Given the description of an element on the screen output the (x, y) to click on. 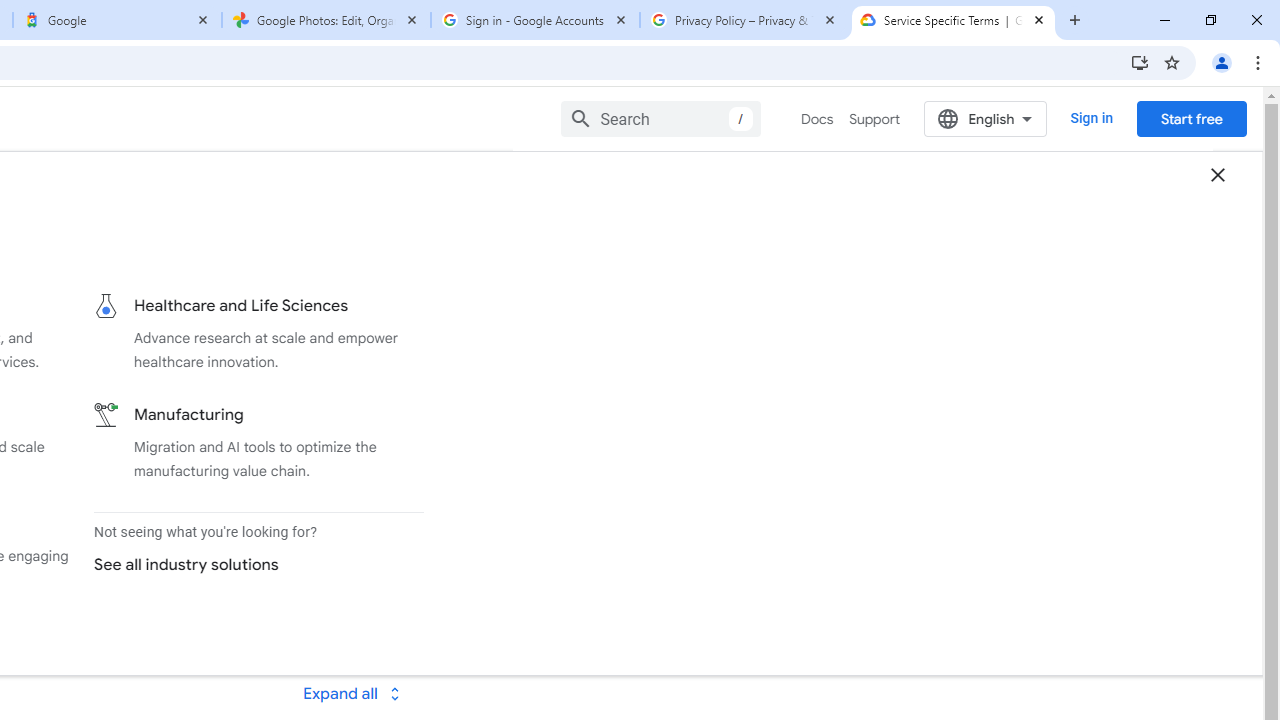
Start free (1191, 118)
Google (116, 20)
See all industry solutions (250, 564)
Support (874, 119)
Close dropdown menu (1217, 174)
